Given the description of an element on the screen output the (x, y) to click on. 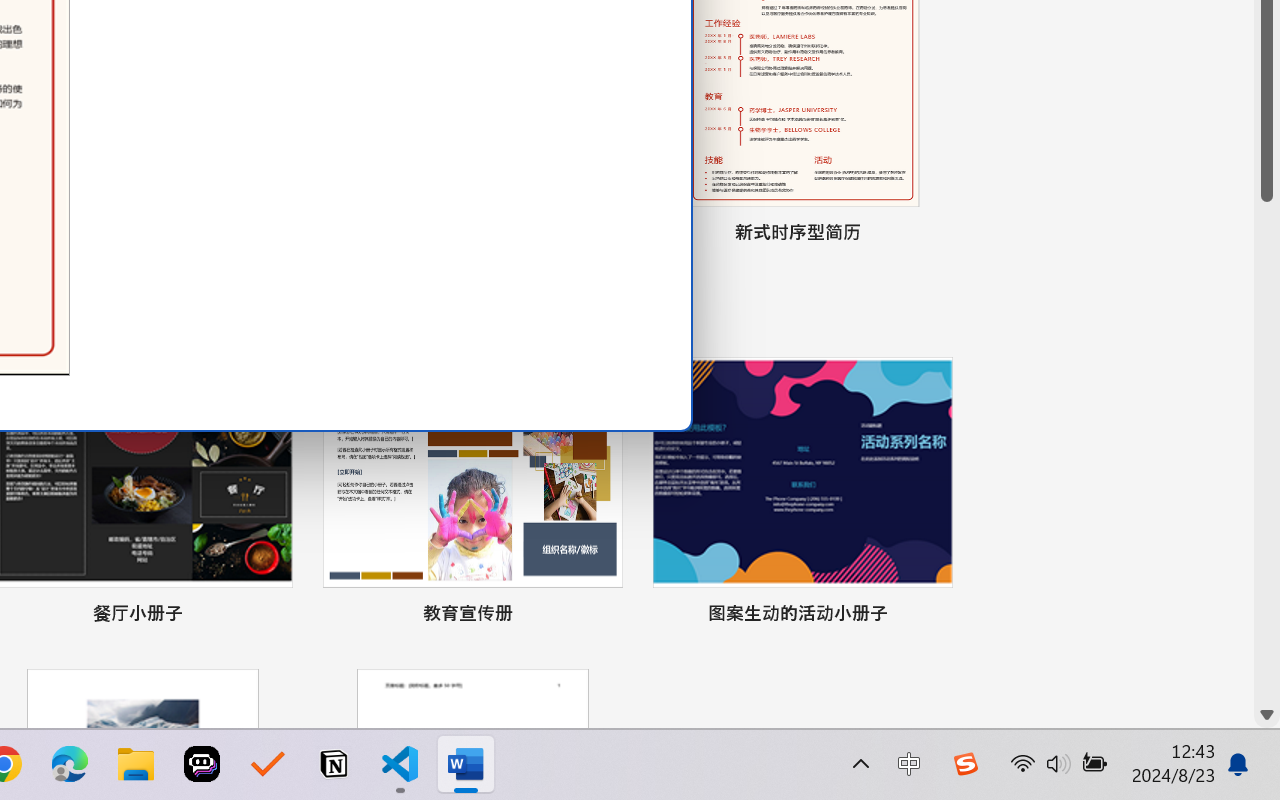
Pin to list (934, 616)
